Given the description of an element on the screen output the (x, y) to click on. 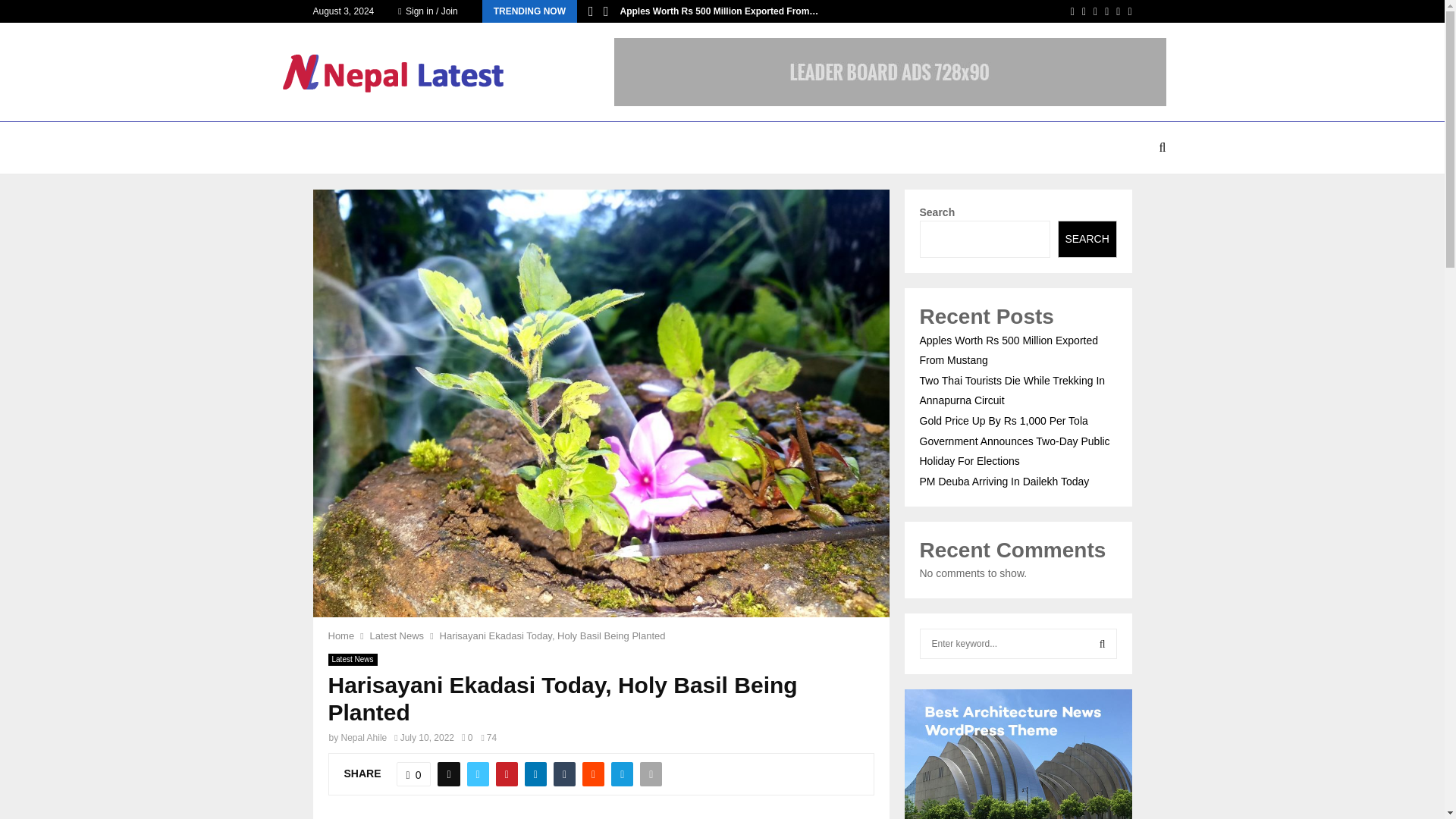
LATEST NEWS (365, 147)
Login to your account (722, 293)
Like (413, 774)
BUSINESS (448, 147)
Sign up new account (722, 526)
